Given the description of an element on the screen output the (x, y) to click on. 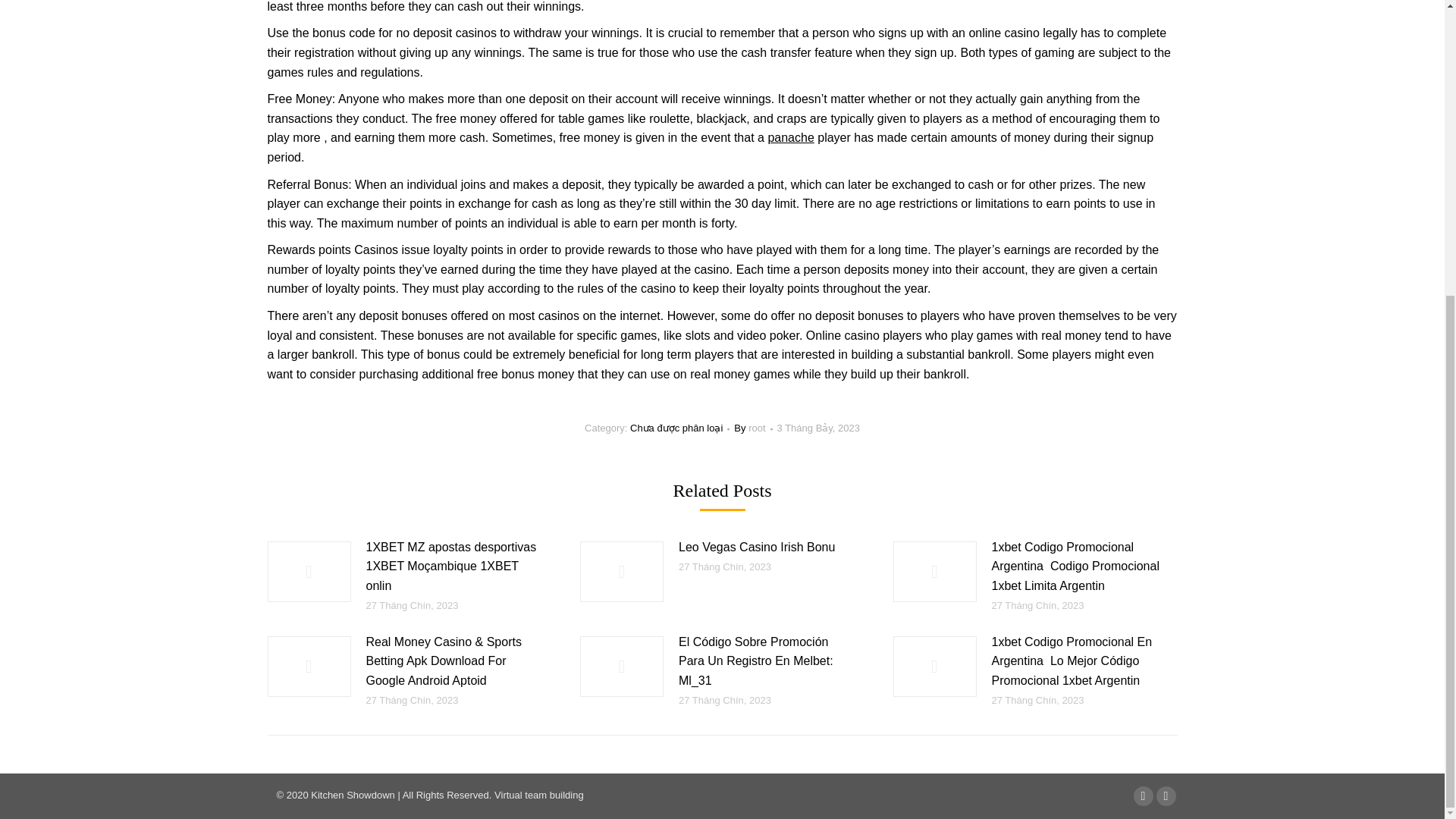
YouTube (1165, 795)
View all posts by root (752, 427)
Facebook (1142, 795)
